Given the description of an element on the screen output the (x, y) to click on. 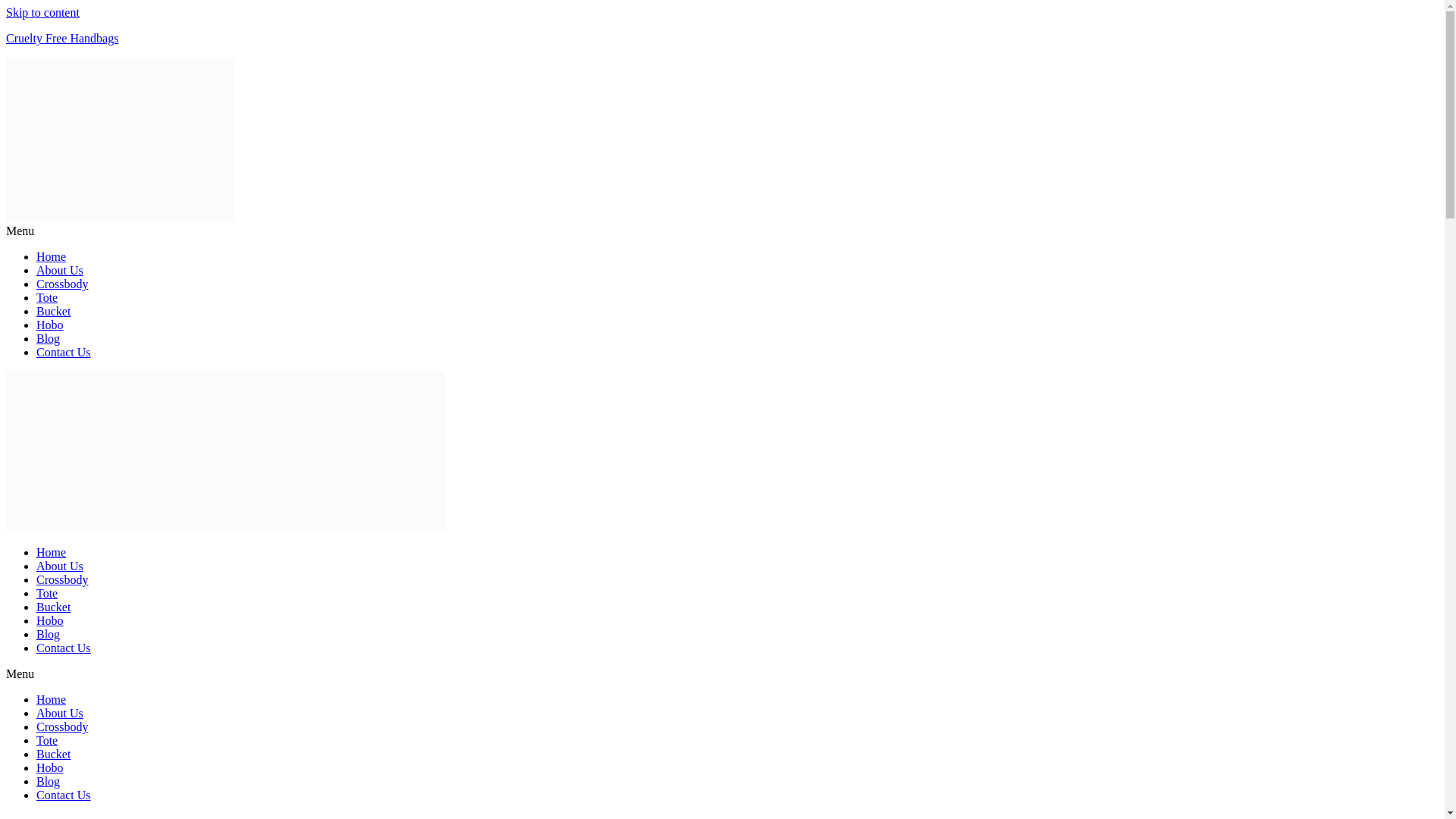
Bucket (52, 310)
Blog (47, 634)
Blog (47, 338)
Home (50, 256)
Tote (47, 593)
About Us (59, 269)
Home (50, 698)
Cruelty Free Handbags (61, 38)
Blog (47, 780)
Hobo (50, 620)
Contact Us (63, 647)
Bucket (52, 753)
About Us (59, 565)
Home (50, 552)
Contact Us (63, 351)
